Given the description of an element on the screen output the (x, y) to click on. 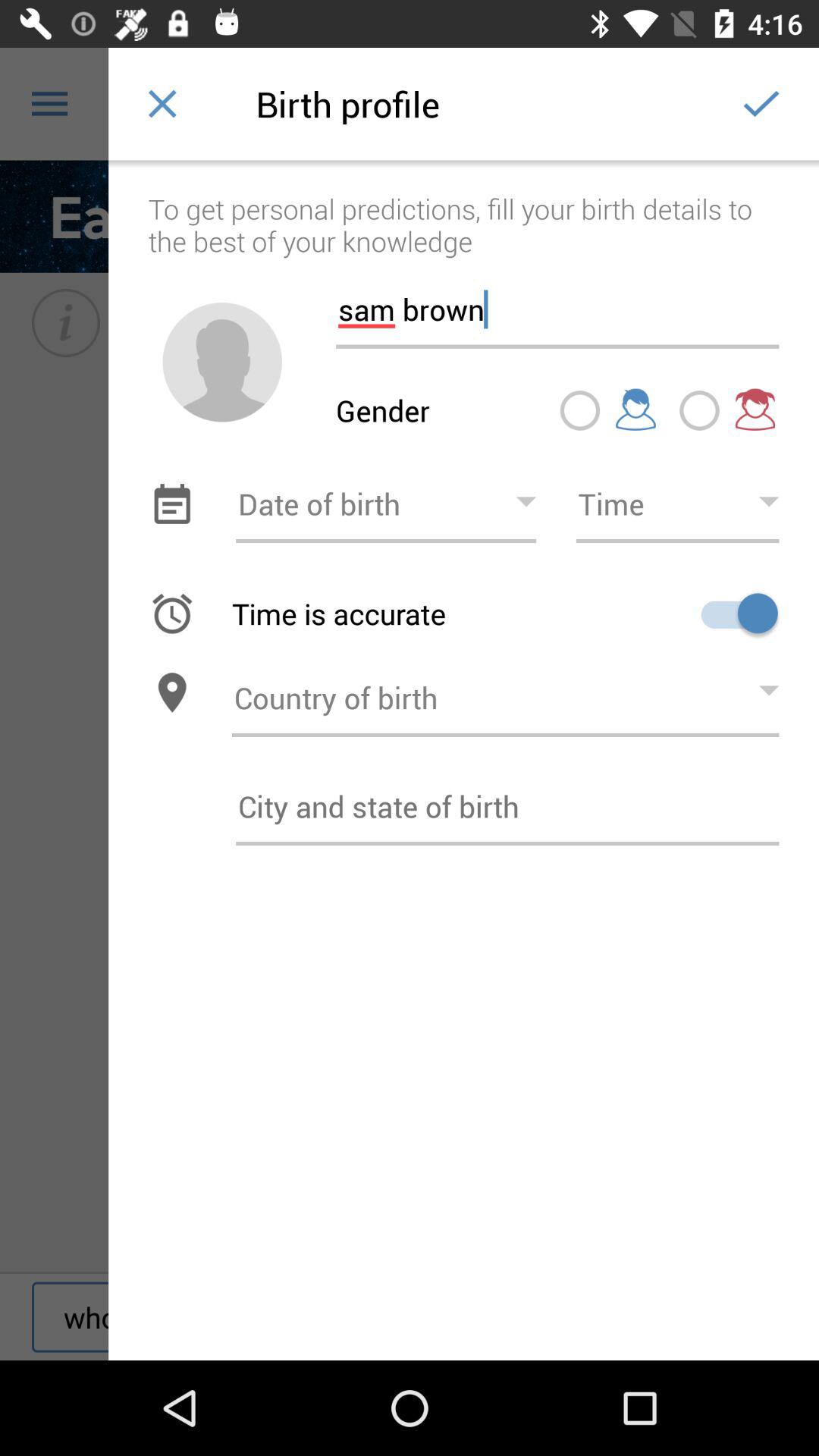
select item below birth profile (463, 209)
